Given the description of an element on the screen output the (x, y) to click on. 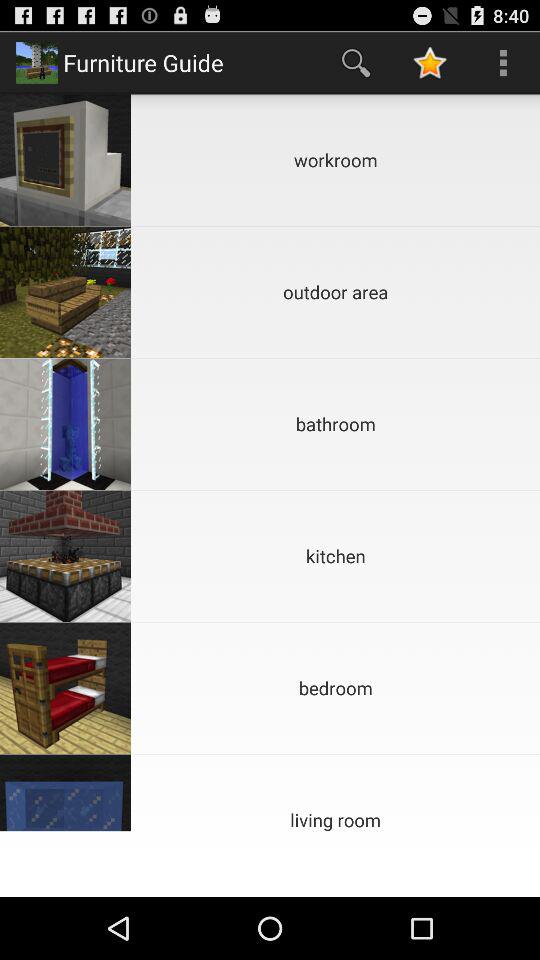
select outdoor area app (335, 291)
